Given the description of an element on the screen output the (x, y) to click on. 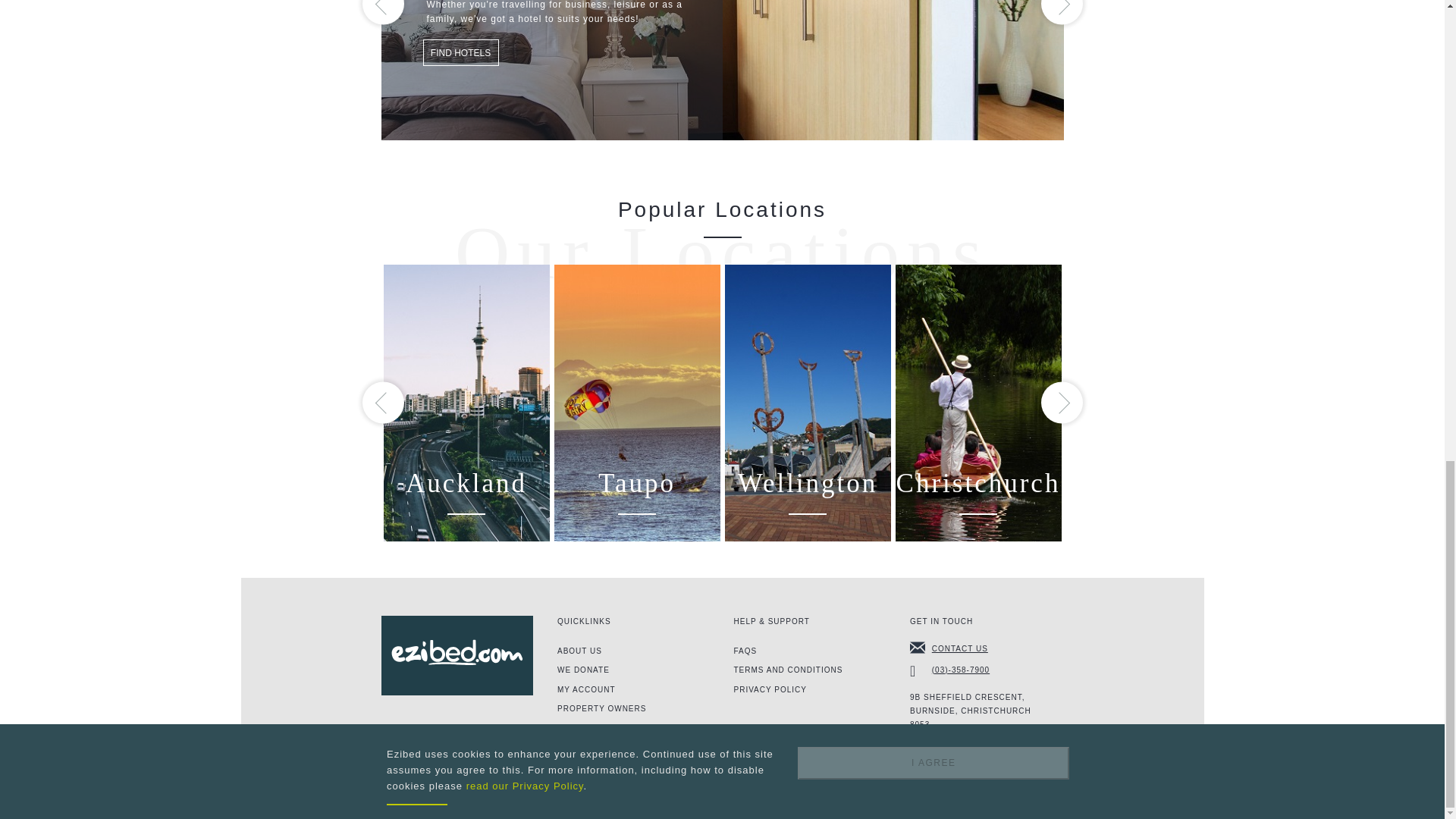
Previous (383, 12)
FIND HOTELS (461, 52)
Next (1061, 12)
